Given the description of an element on the screen output the (x, y) to click on. 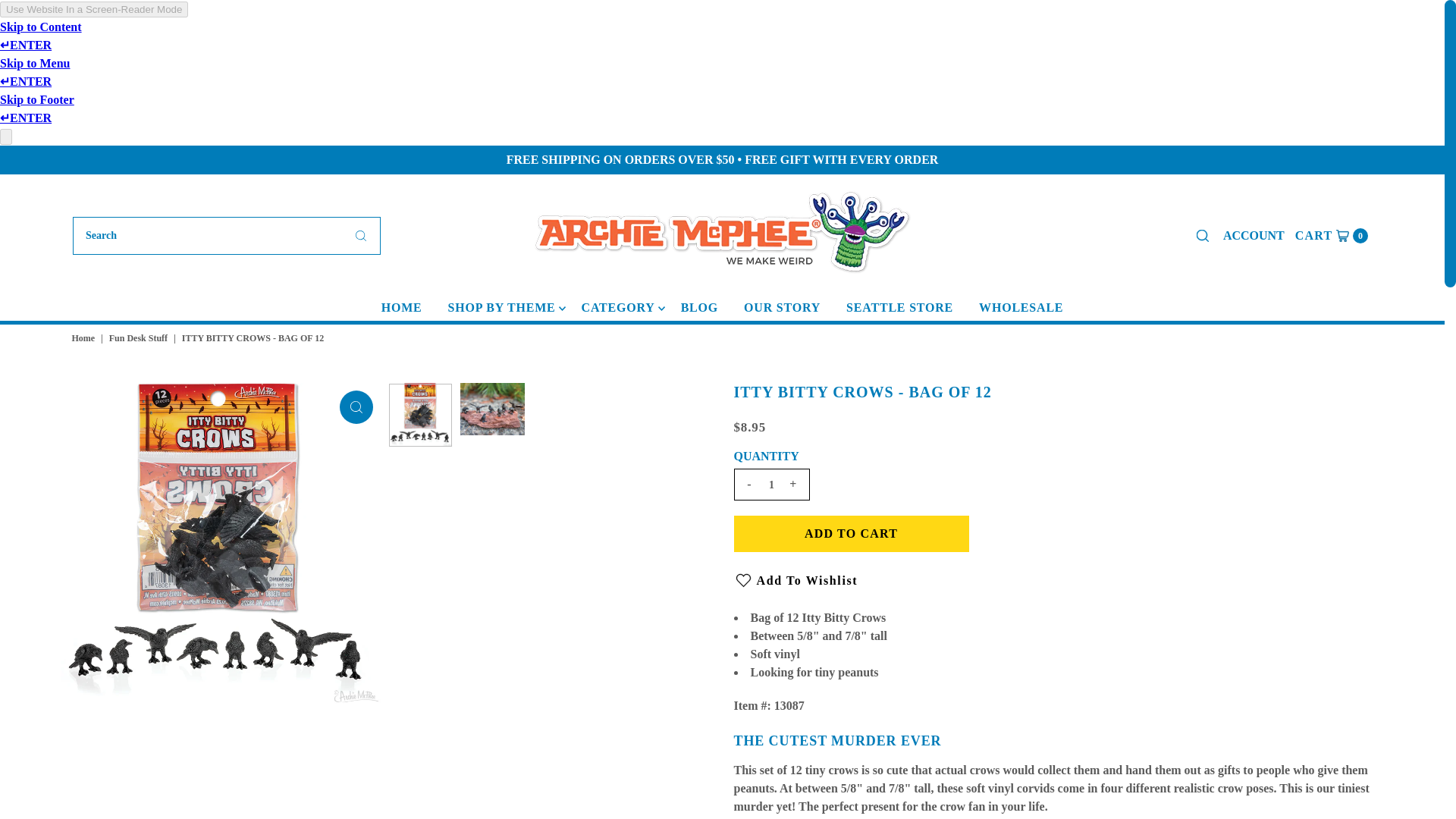
ACCOUNT (1331, 235)
SHOP BY THEME (1254, 235)
Home (501, 307)
Click to zoom (85, 337)
HOME (355, 407)
Add to Cart (401, 307)
